Given the description of an element on the screen output the (x, y) to click on. 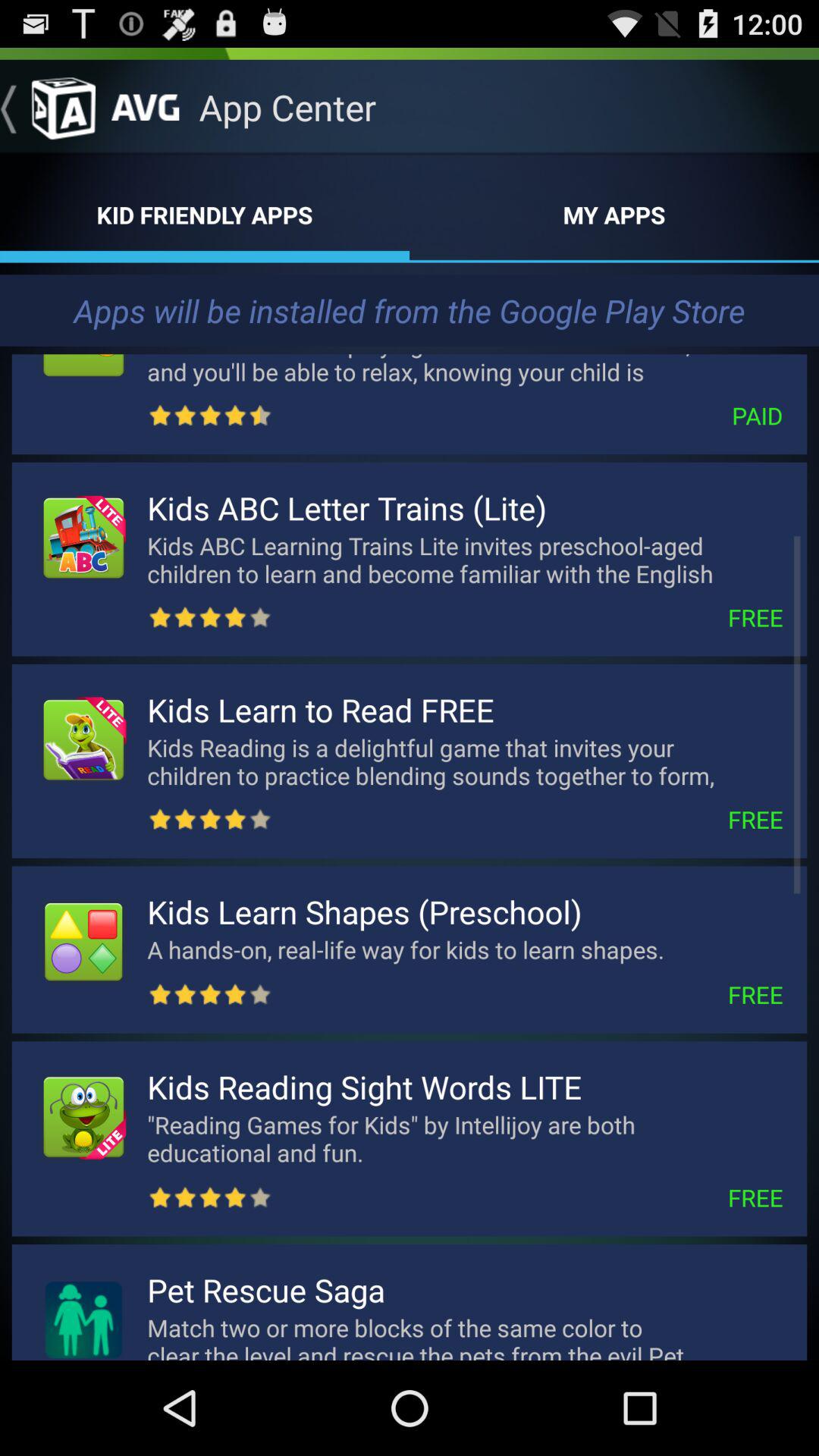
open your child will item (465, 366)
